Given the description of an element on the screen output the (x, y) to click on. 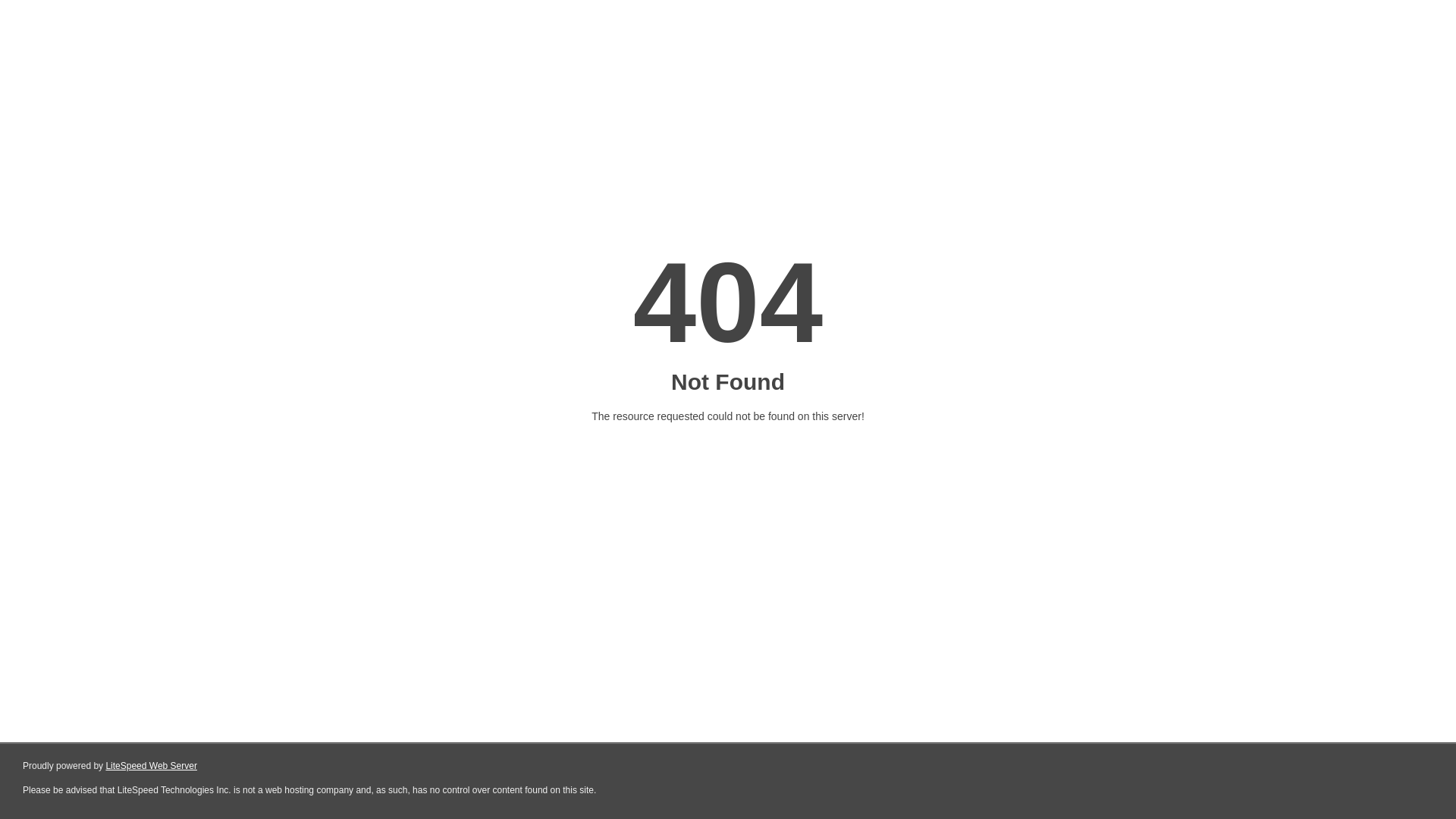
LiteSpeed Web Server Element type: text (151, 765)
